Given the description of an element on the screen output the (x, y) to click on. 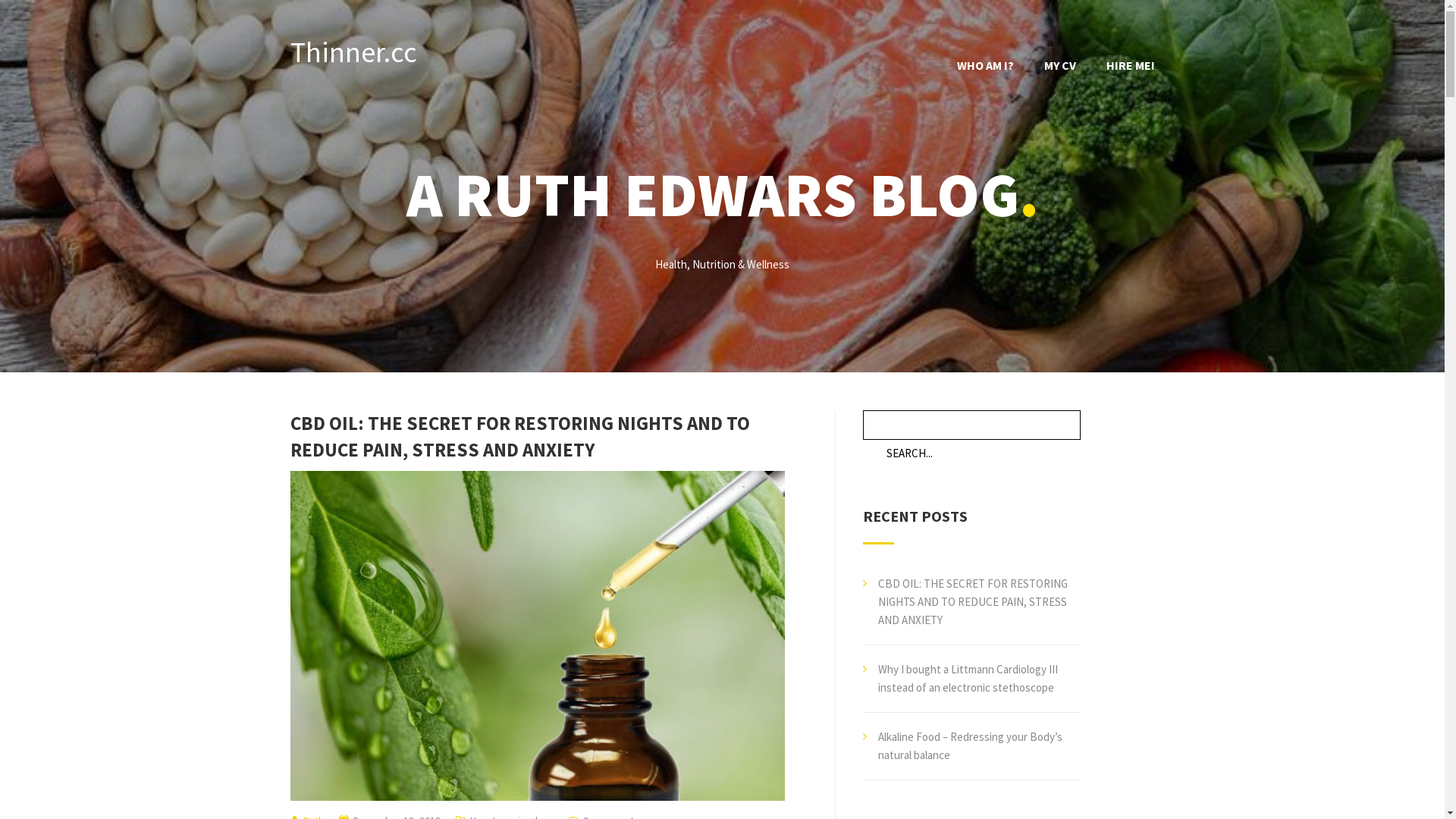
WHO AM I? Element type: text (985, 64)
Search for: Element type: hover (971, 453)
HIRE ME! Element type: text (1129, 64)
Thinner.cc Element type: text (352, 51)
MY CV Element type: text (1059, 64)
